Given the description of an element on the screen output the (x, y) to click on. 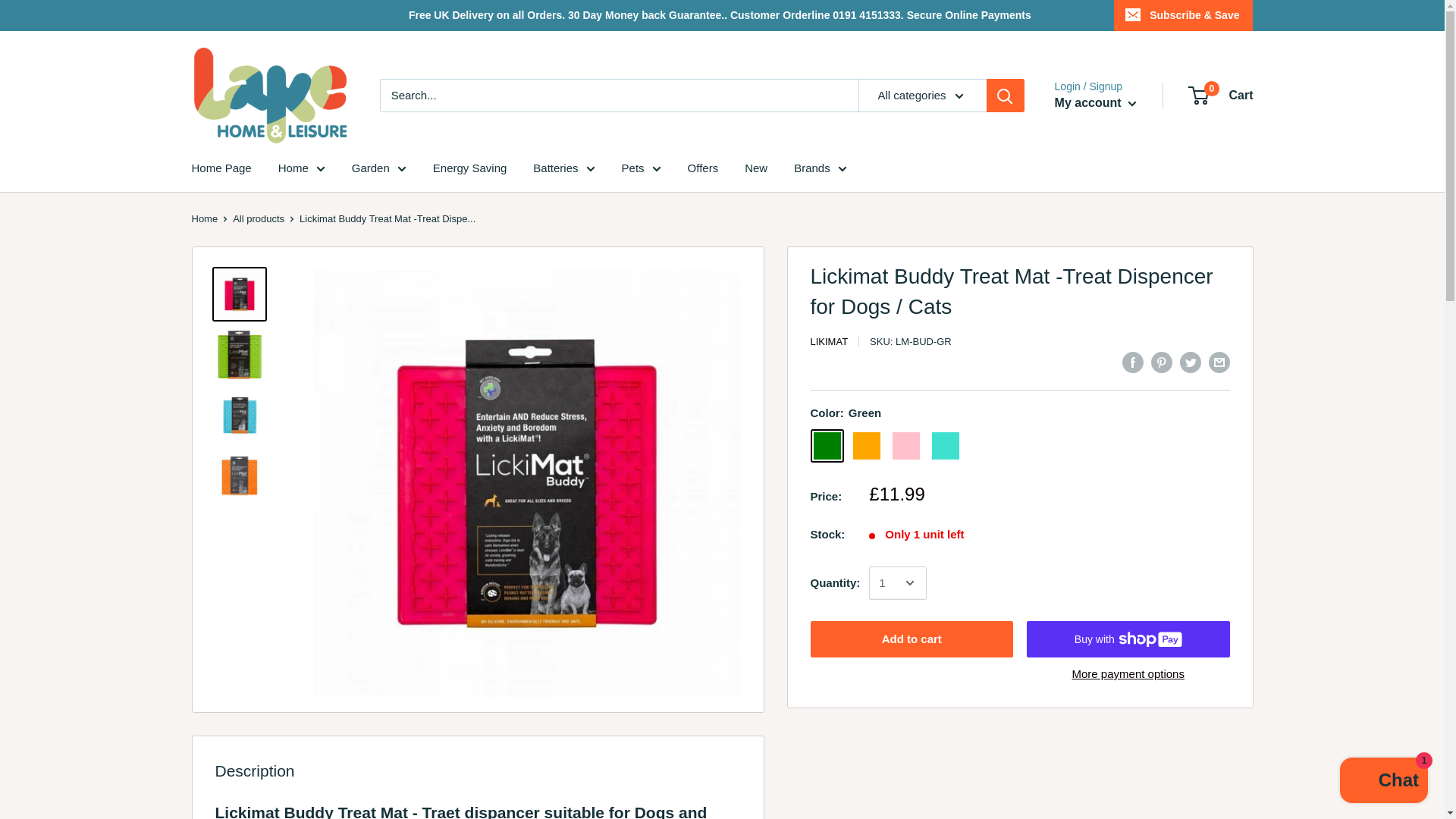
Pink (904, 445)
Shopify online store chat (1383, 781)
Turquoise (944, 445)
Orange (865, 445)
Green (826, 445)
